Given the description of an element on the screen output the (x, y) to click on. 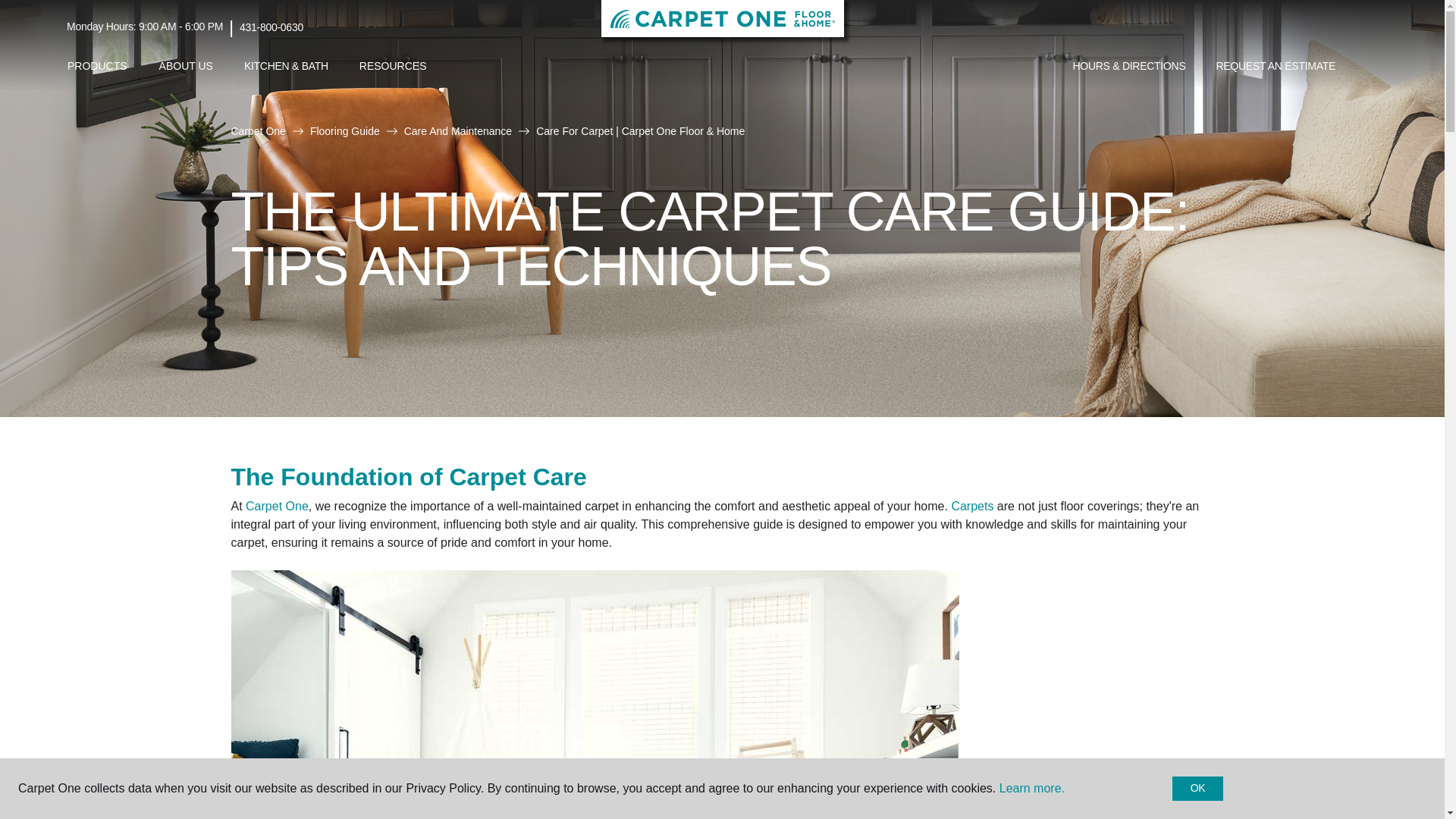
ABOUT US (186, 66)
REQUEST AN ESTIMATE (1276, 66)
RESOURCES (392, 66)
431-800-0630 (271, 27)
PRODUCTS (97, 66)
